Given the description of an element on the screen output the (x, y) to click on. 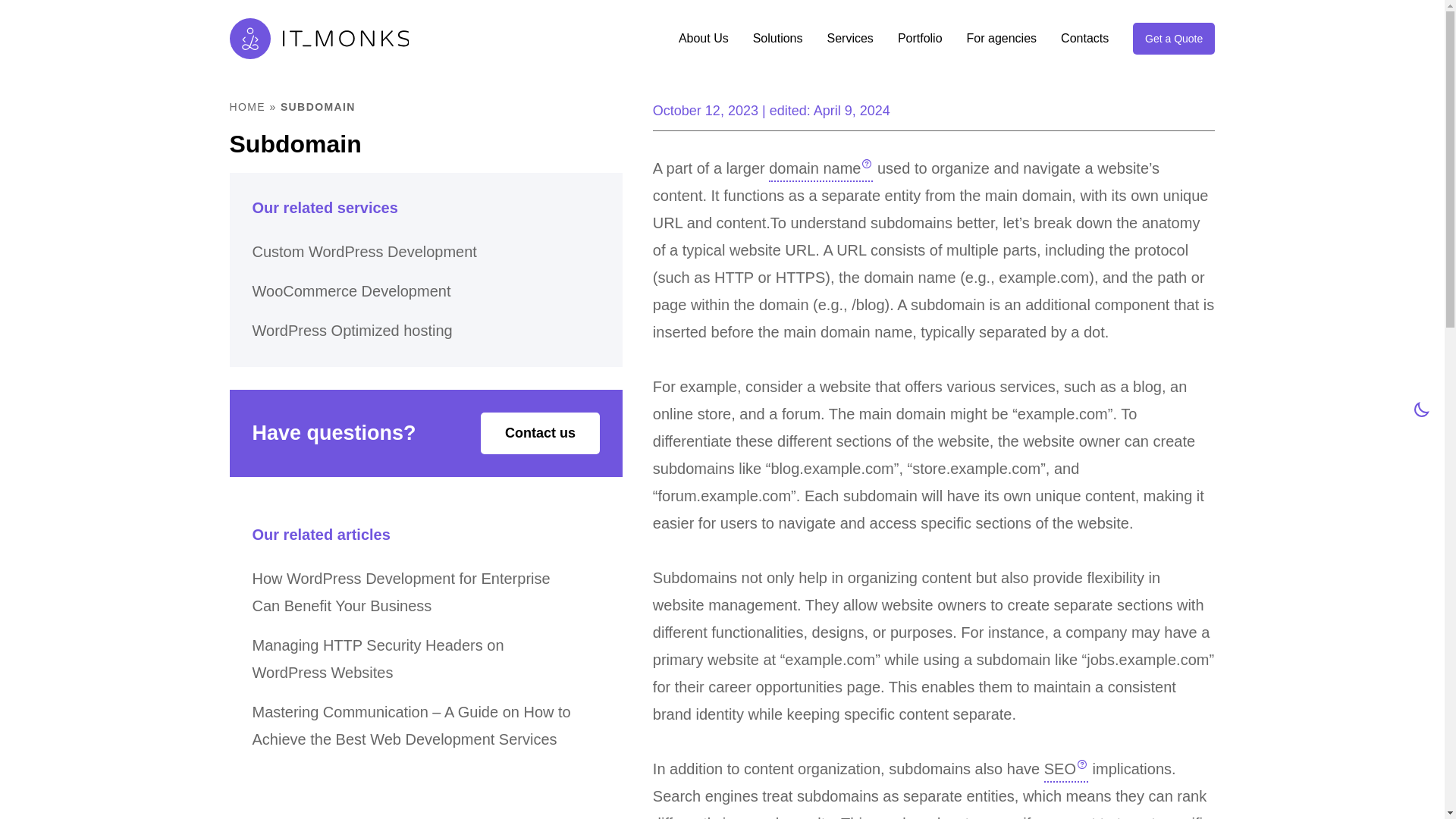
For agencies (1001, 38)
HOME (246, 106)
IT Monks (318, 38)
Get a Quote (1173, 38)
